Given the description of an element on the screen output the (x, y) to click on. 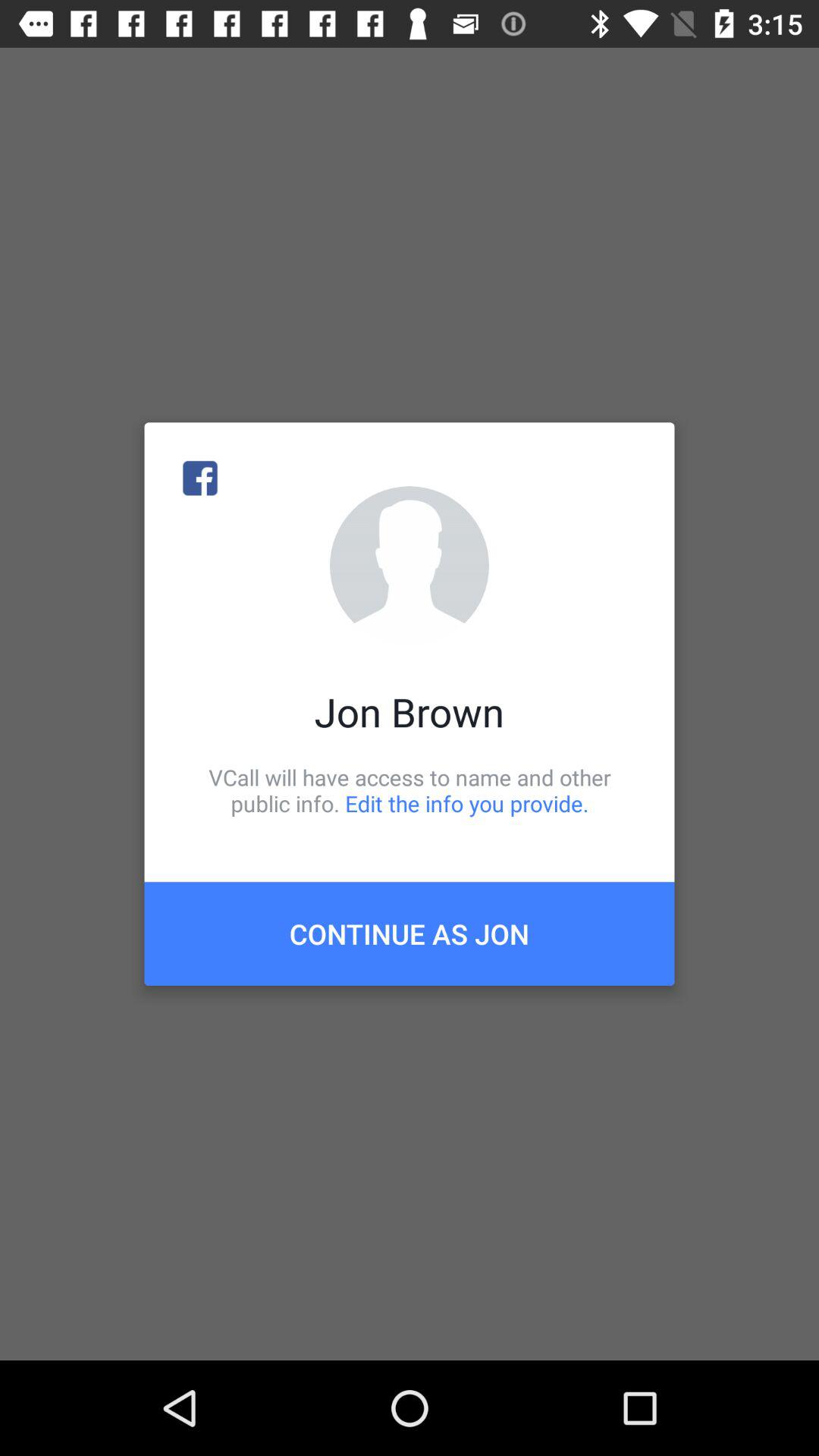
launch icon above the continue as jon item (409, 790)
